Given the description of an element on the screen output the (x, y) to click on. 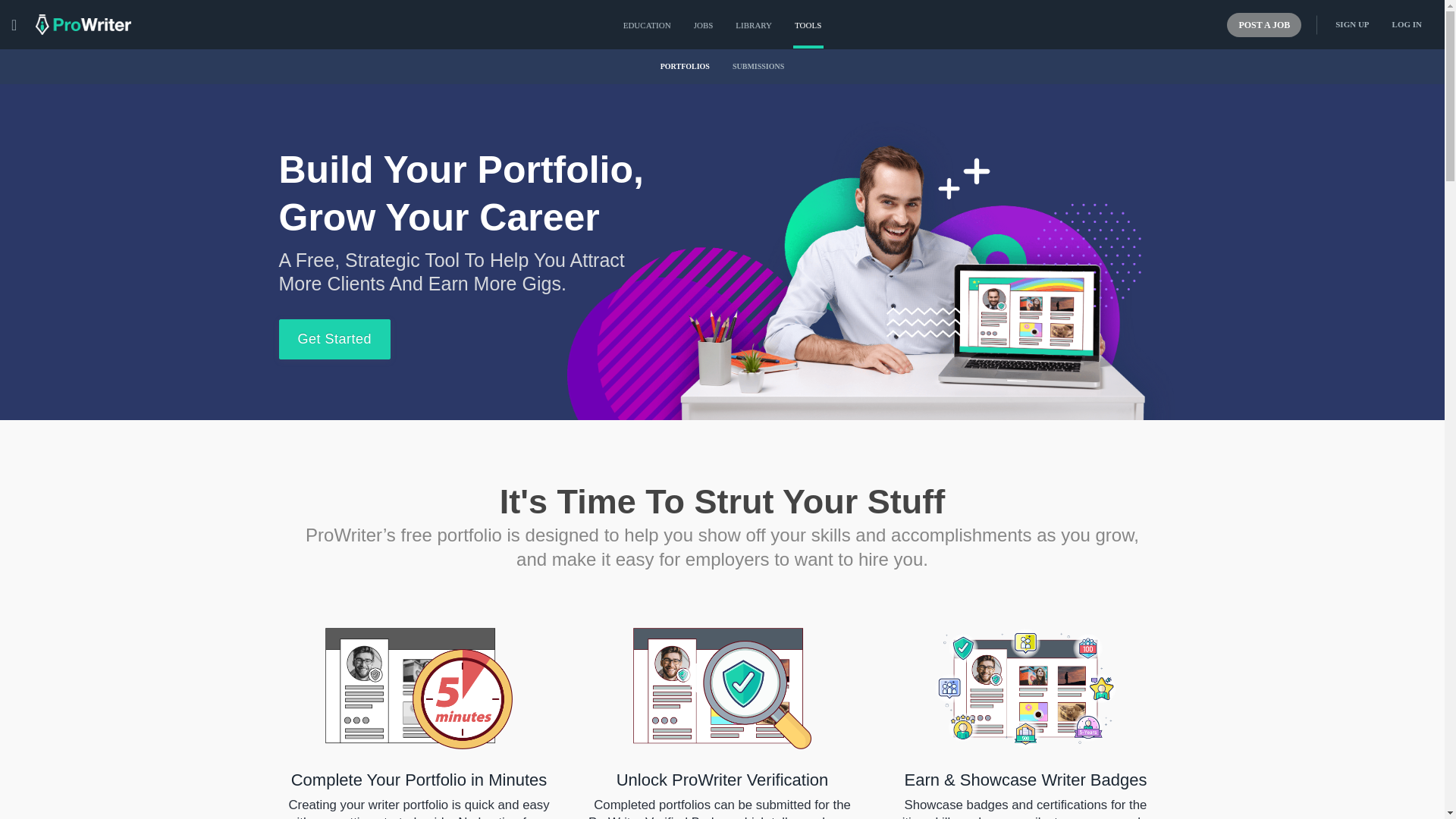
EDUCATION (646, 23)
Jobs (703, 23)
prowriter home link (82, 24)
Library (753, 23)
SUBMISSIONS (757, 66)
POST A JOB (1264, 24)
education (646, 23)
TOOLS (807, 23)
tools (807, 23)
LOG IN (1406, 24)
JOBS (703, 23)
LIBRARY (753, 23)
SIGN UP (1351, 24)
PORTFOLIOS (684, 66)
